Given the description of an element on the screen output the (x, y) to click on. 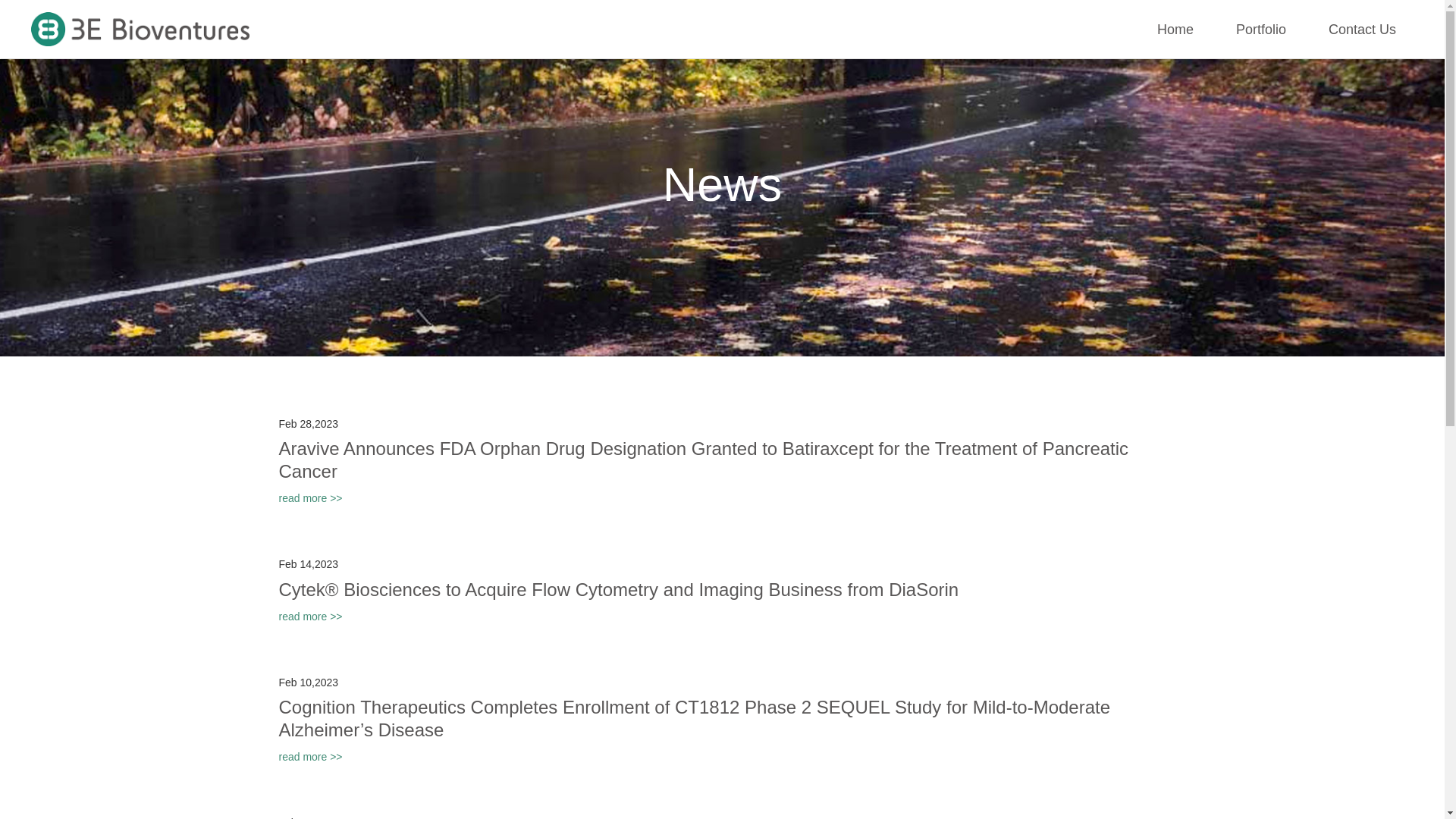
read more >> Element type: text (310, 756)
read more >> Element type: text (310, 616)
Contact Us Element type: text (1361, 29)
read more >> Element type: text (310, 498)
Home Element type: text (1175, 29)
Portfolio Element type: text (1260, 29)
